Given the description of an element on the screen output the (x, y) to click on. 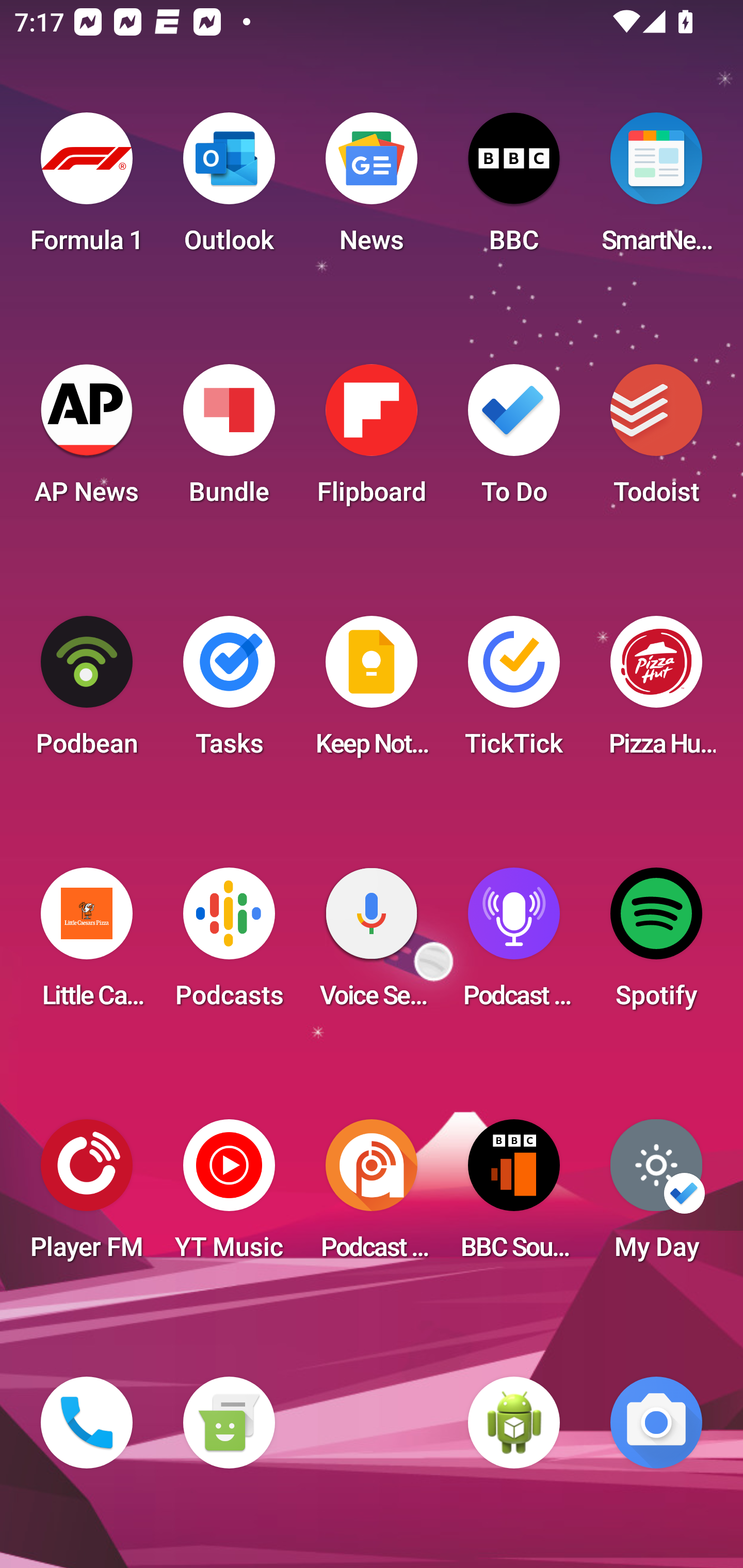
Formula 1 (86, 188)
Outlook (228, 188)
News (371, 188)
BBC (513, 188)
SmartNews (656, 188)
AP News (86, 440)
Bundle (228, 440)
Flipboard (371, 440)
To Do (513, 440)
Todoist (656, 440)
Podbean (86, 692)
Tasks (228, 692)
Keep Notes (371, 692)
TickTick (513, 692)
Pizza Hut HK & Macau (656, 692)
Little Caesars Pizza (86, 943)
Podcasts (228, 943)
Voice Search (371, 943)
Podcast Player (513, 943)
Spotify (656, 943)
Player FM (86, 1195)
YT Music (228, 1195)
Podcast Addict (371, 1195)
BBC Sounds (513, 1195)
My Day (656, 1195)
Phone (86, 1422)
Messaging (228, 1422)
WebView Browser Tester (513, 1422)
Camera (656, 1422)
